Given the description of an element on the screen output the (x, y) to click on. 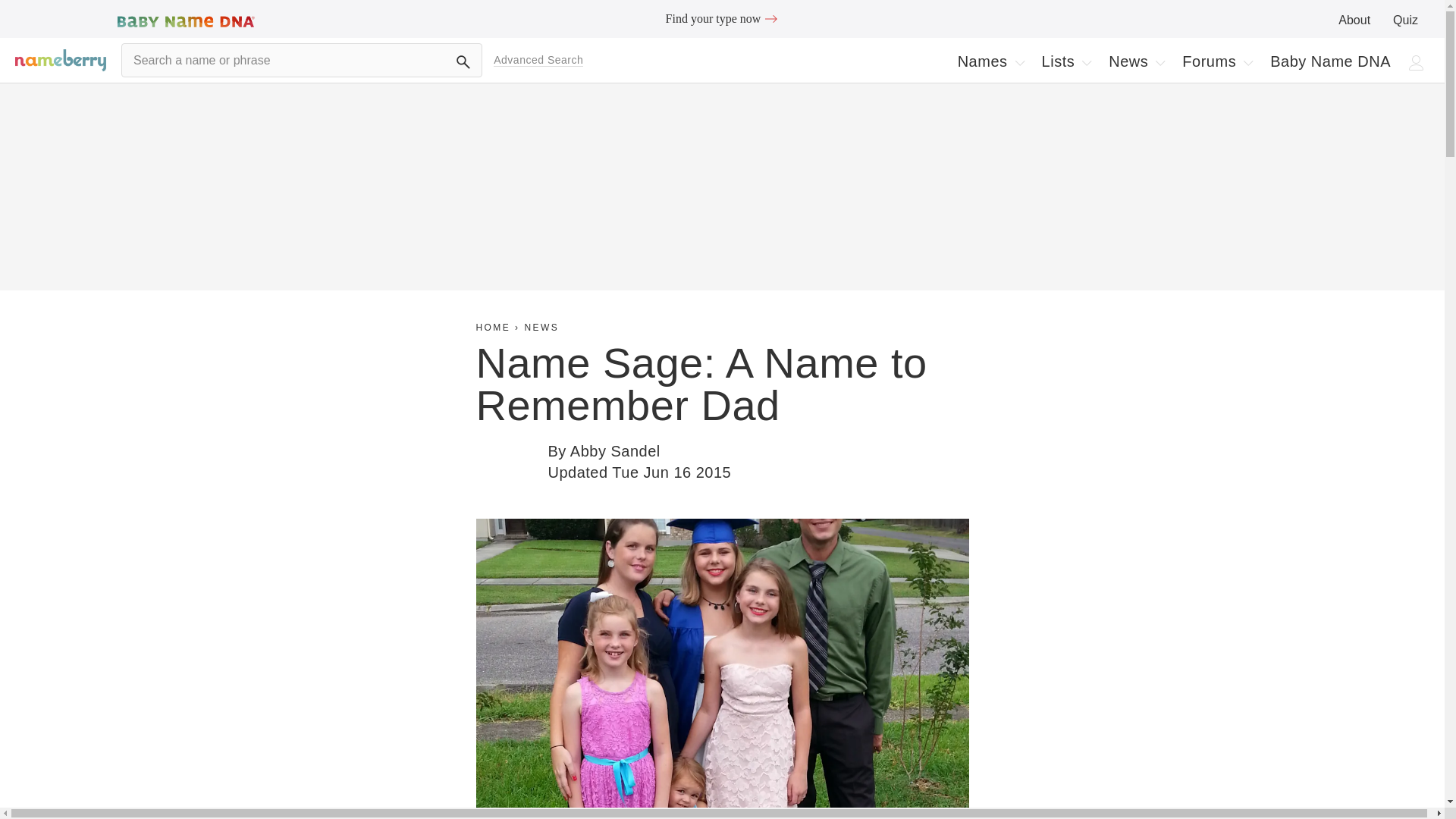
Advanced Search (1216, 61)
Chevron - Down (1136, 61)
Baby Name DNA (538, 60)
Chevron - Down (1019, 62)
Quiz (1329, 61)
Search (990, 61)
Chevron - Down (1160, 62)
